Given the description of an element on the screen output the (x, y) to click on. 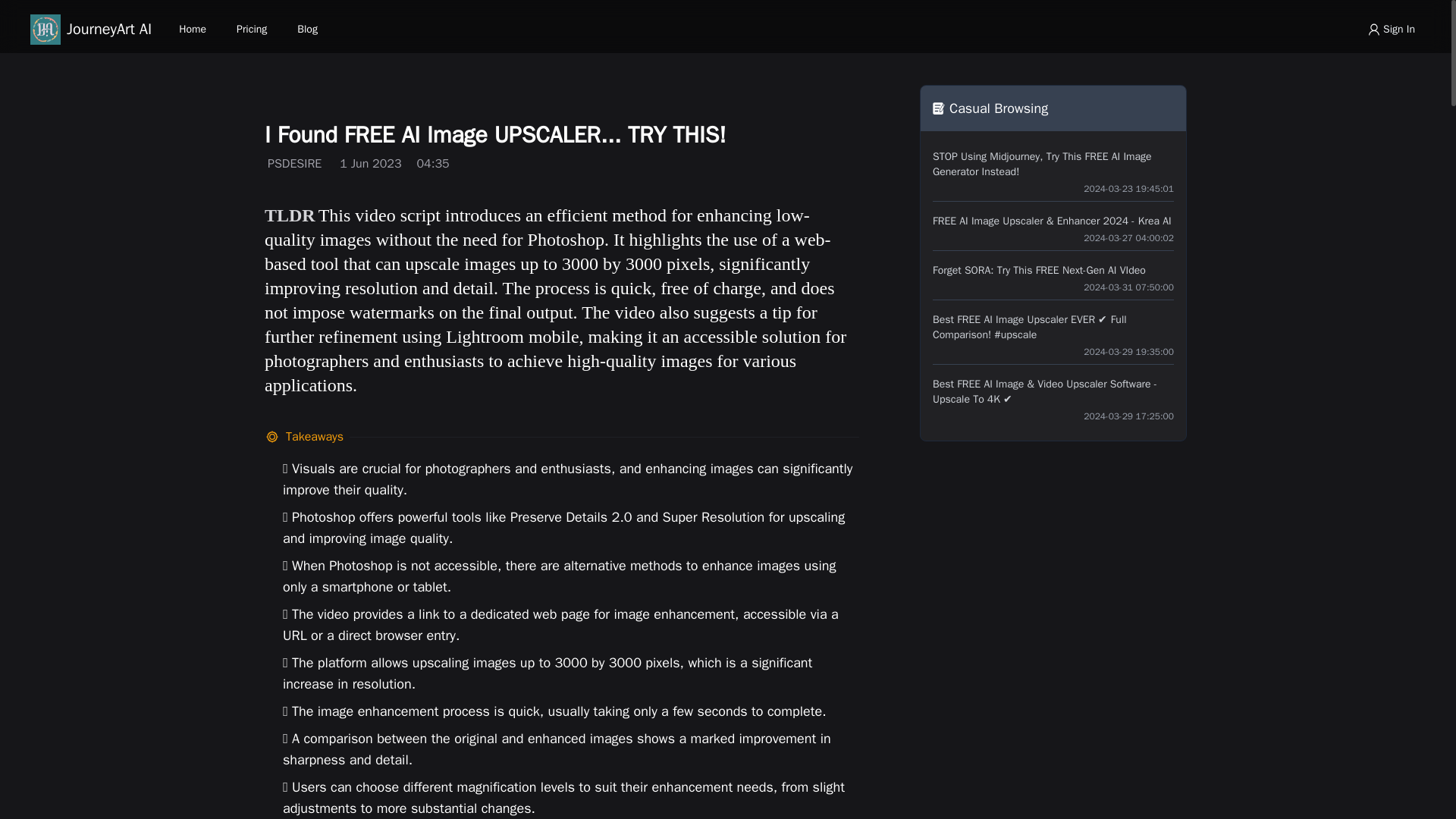
Pricing (251, 29)
Blog (307, 29)
Home (192, 29)
JourneyArt AI (90, 29)
Sign In (1391, 29)
